Given the description of an element on the screen output the (x, y) to click on. 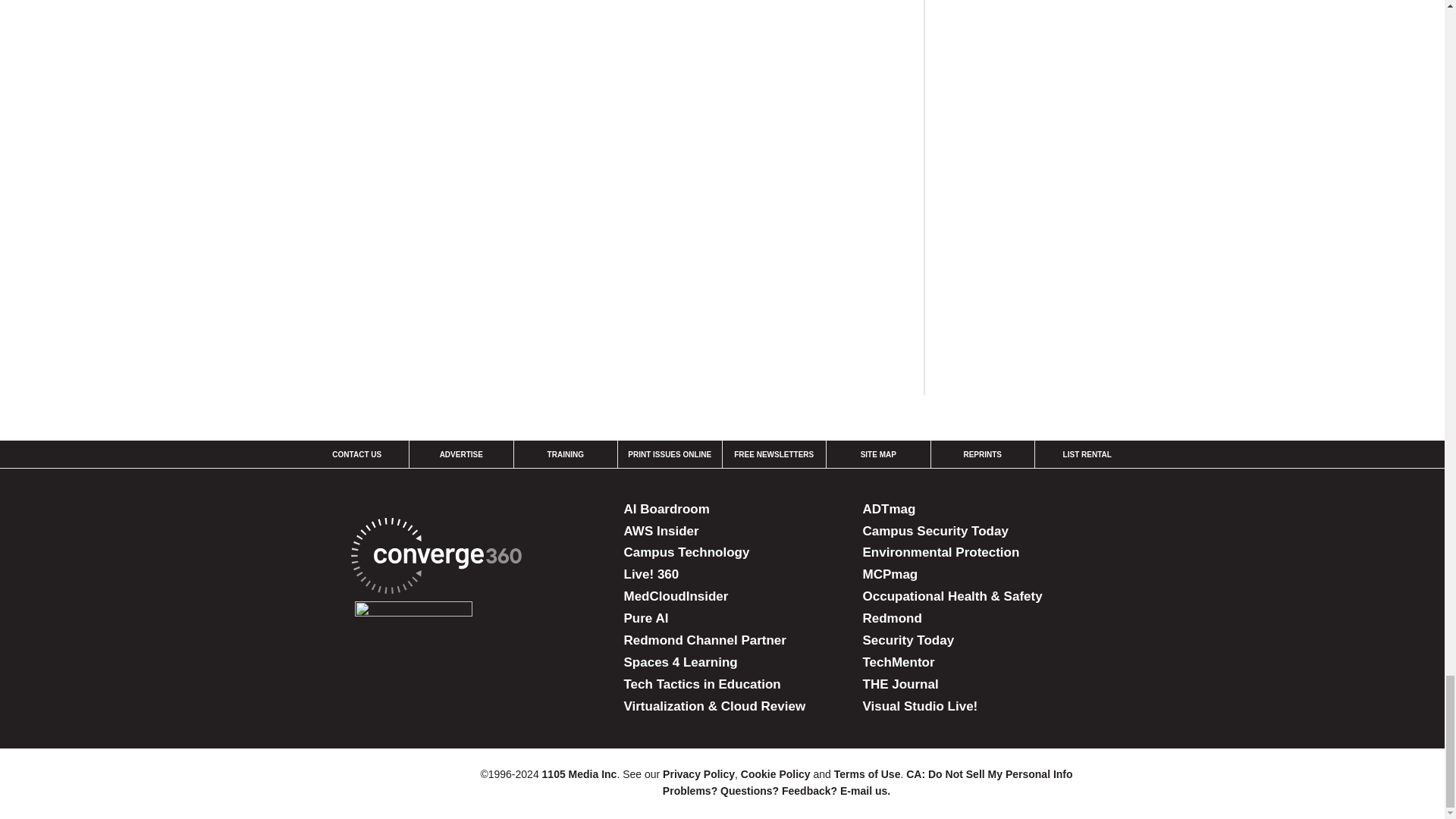
3rd party ad content (1059, 262)
3rd party ad content (1059, 64)
